Given the description of an element on the screen output the (x, y) to click on. 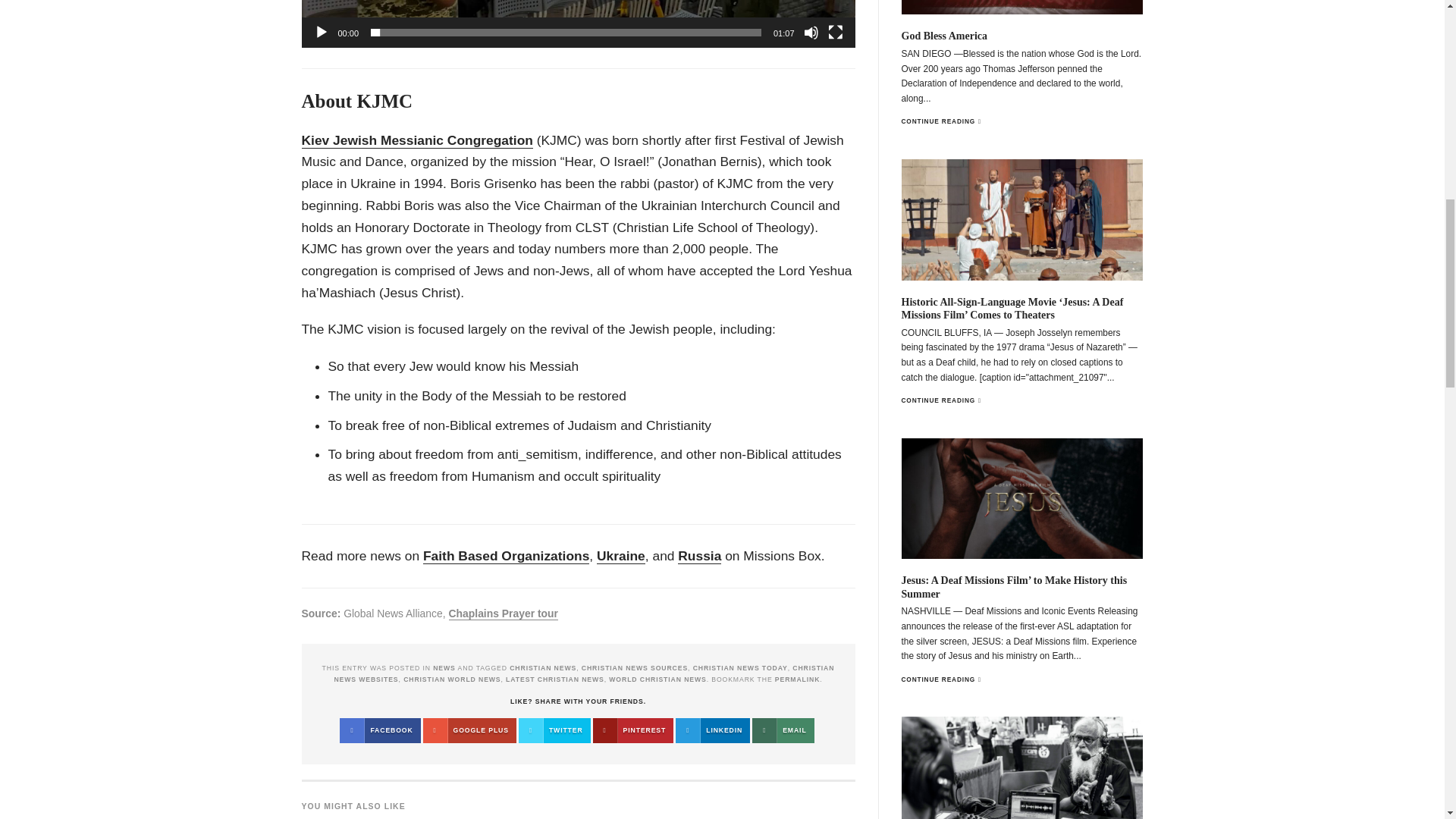
Mute (810, 32)
CHRISTIAN NEWS SOURCES (633, 667)
Chaplains Prayer tour (503, 613)
Play (321, 32)
CHRISTIAN NEWS WEBSITES (583, 673)
CHRISTIAN NEWS TODAY (740, 667)
Ukraine (620, 555)
Faith Based Organizations (506, 555)
Fullscreen (835, 32)
Russia (699, 555)
CHRISTIAN NEWS (542, 667)
Chaplains Prayer tour (503, 613)
CHRISTIAN WORLD NEWS (451, 679)
Kiev Jewish Messianic Congregation (416, 140)
Ukraine (620, 555)
